Given the description of an element on the screen output the (x, y) to click on. 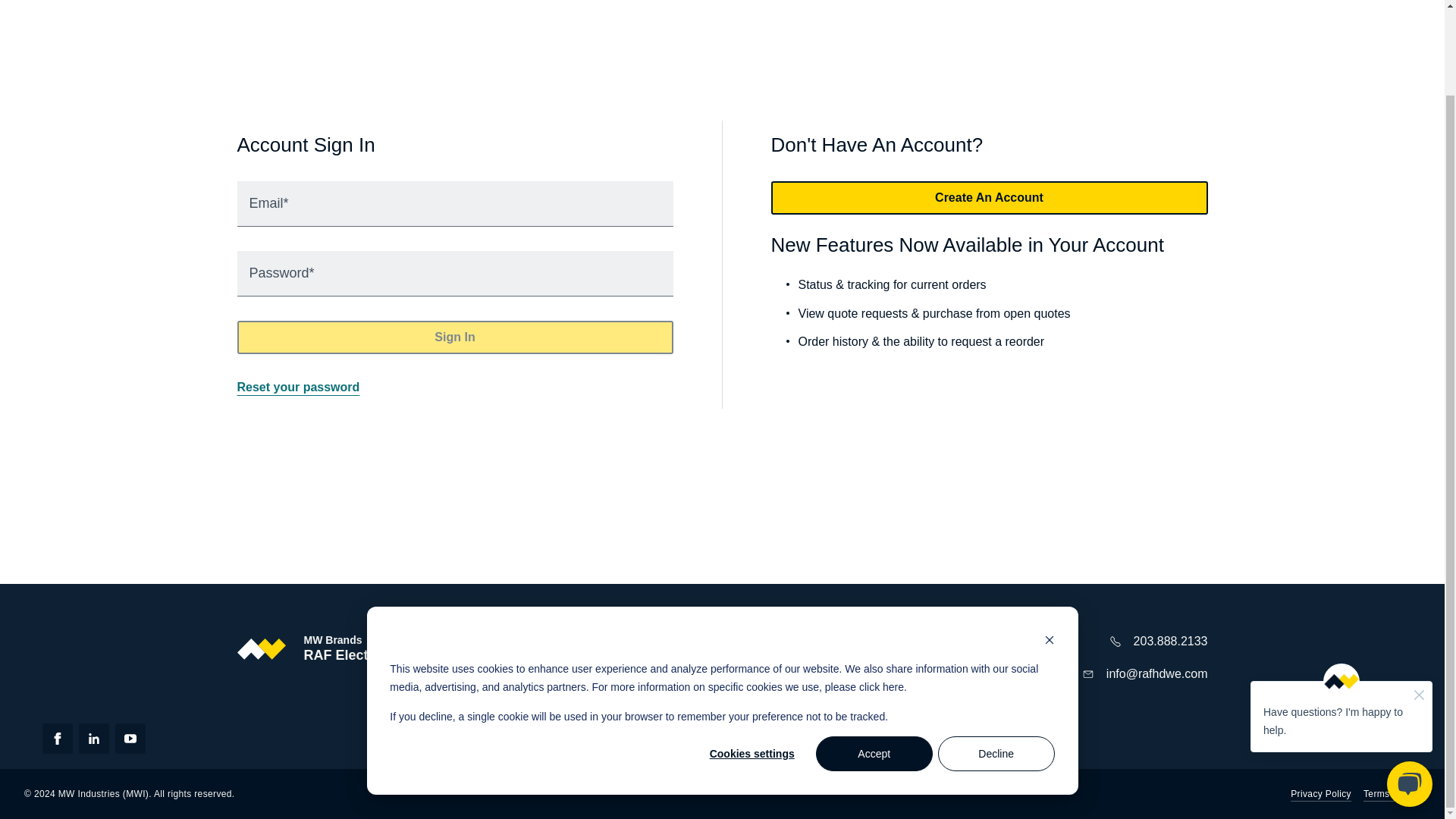
Products (635, 671)
Distributors (731, 640)
Home (627, 640)
Sign In (453, 337)
About (627, 701)
Create An Account (988, 197)
Reset your password (297, 386)
